Given the description of an element on the screen output the (x, y) to click on. 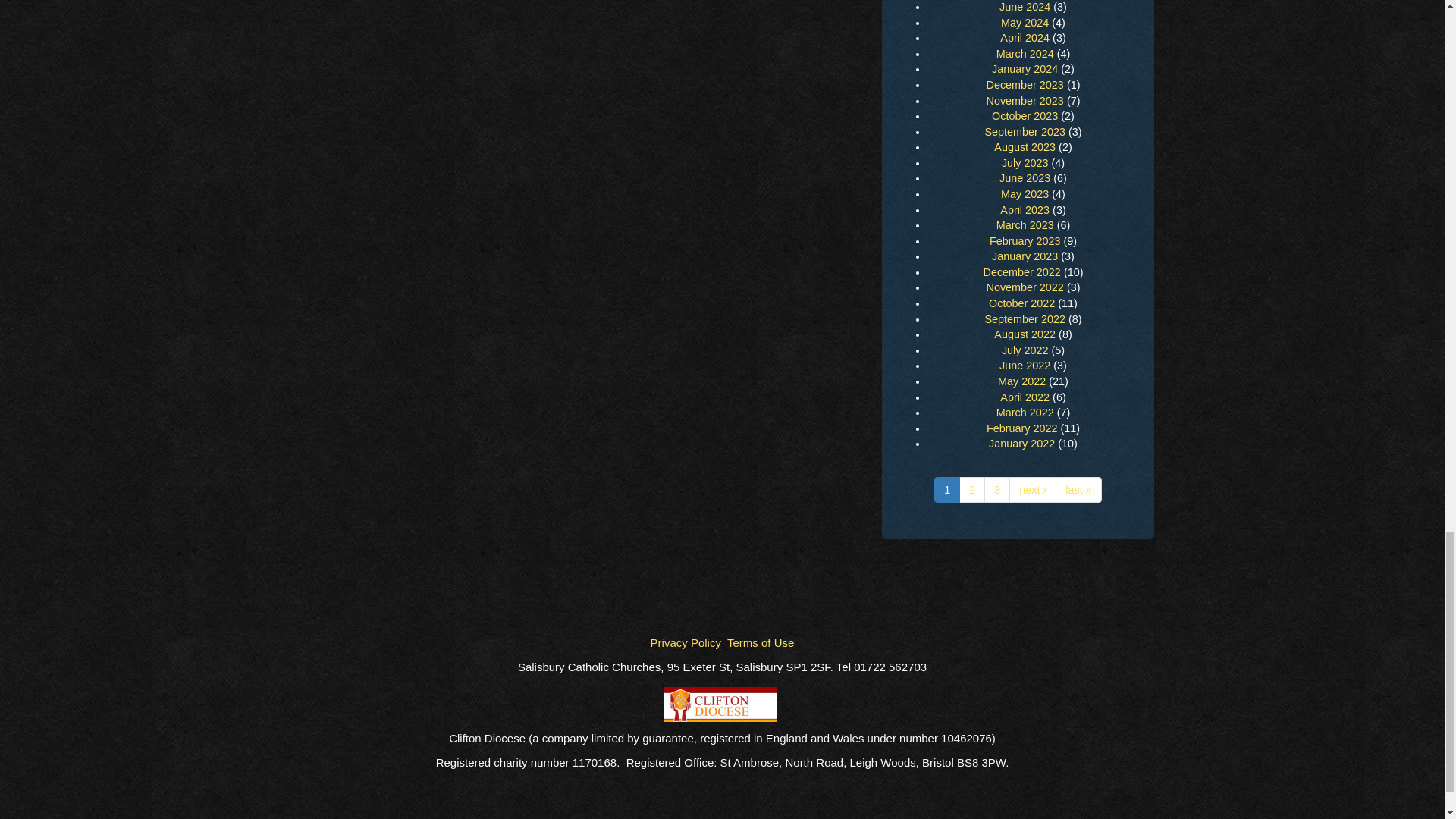
Go to last page (1077, 489)
Go to next page (1033, 489)
Go to page 2 (972, 489)
Go to page 3 (997, 489)
